Given the description of an element on the screen output the (x, y) to click on. 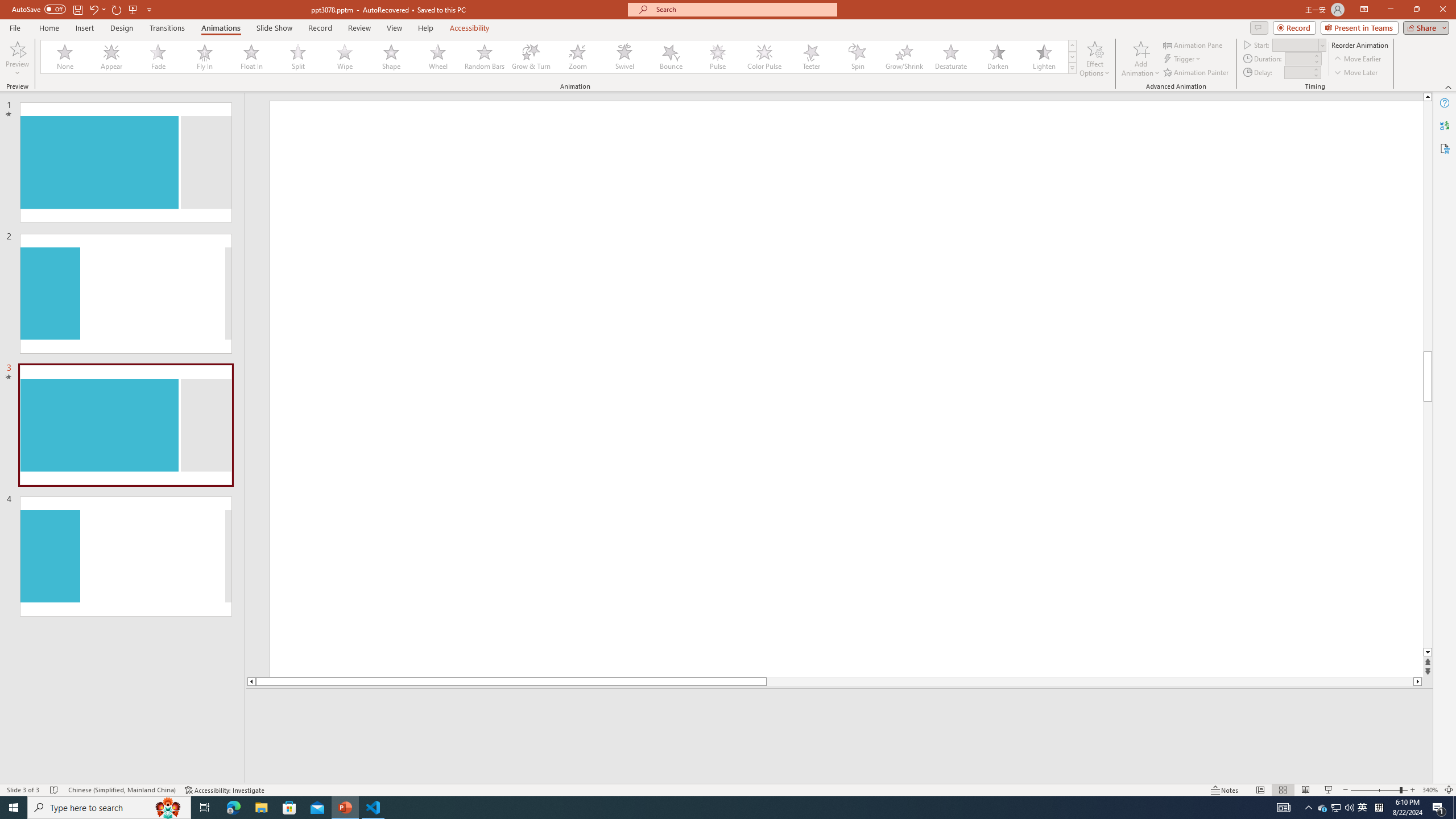
Animation Styles (1071, 67)
Wipe (344, 56)
Animation Painter (1196, 72)
